Given the description of an element on the screen output the (x, y) to click on. 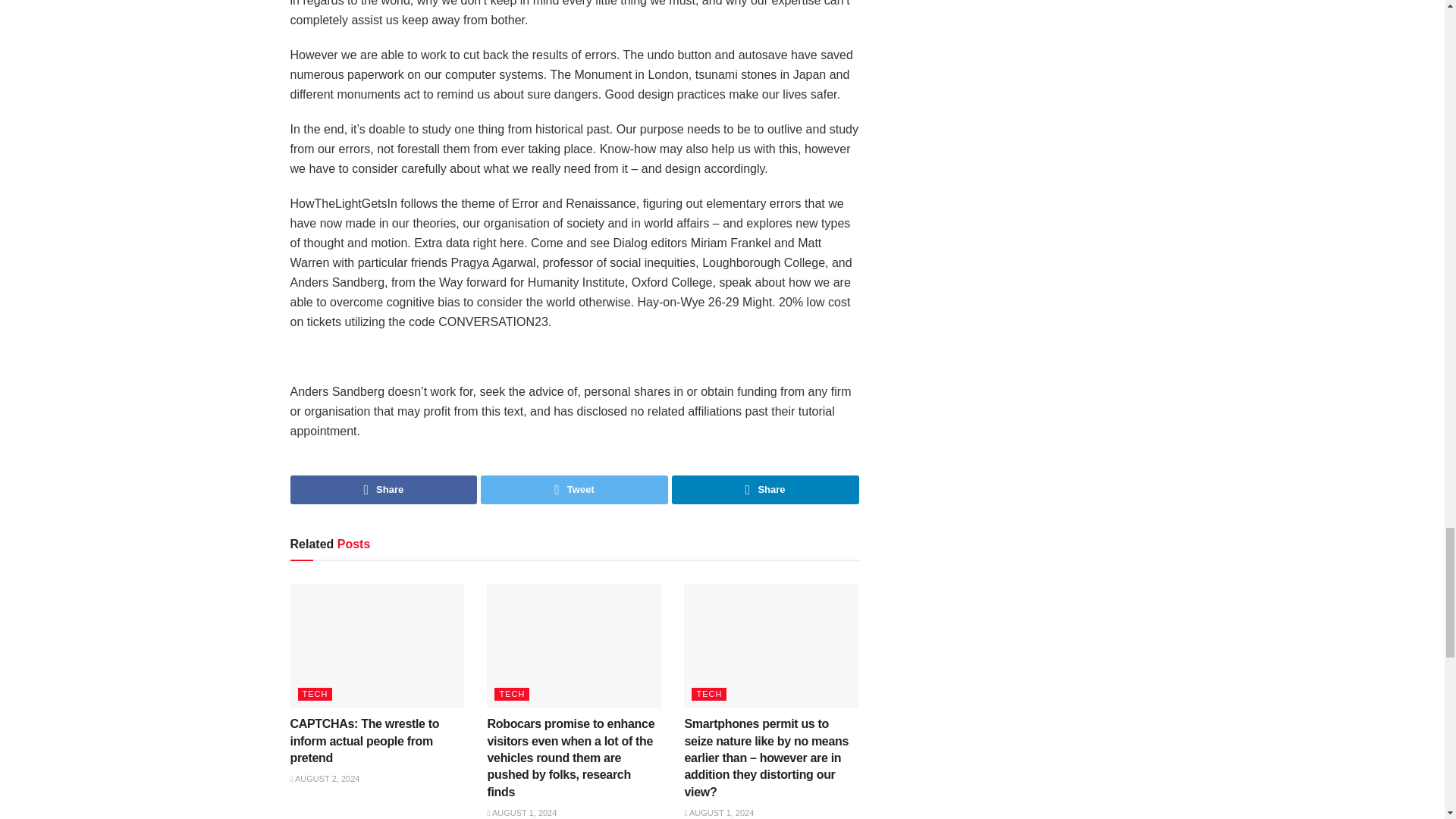
CAPTCHAs: The wrestle to inform actual people from pretend (364, 740)
Share (765, 489)
Share (383, 489)
TECH (512, 694)
AUGUST 1, 2024 (521, 812)
AUGUST 2, 2024 (324, 777)
TECH (708, 694)
AUGUST 1, 2024 (719, 812)
TECH (314, 694)
Tweet (574, 489)
